Given the description of an element on the screen output the (x, y) to click on. 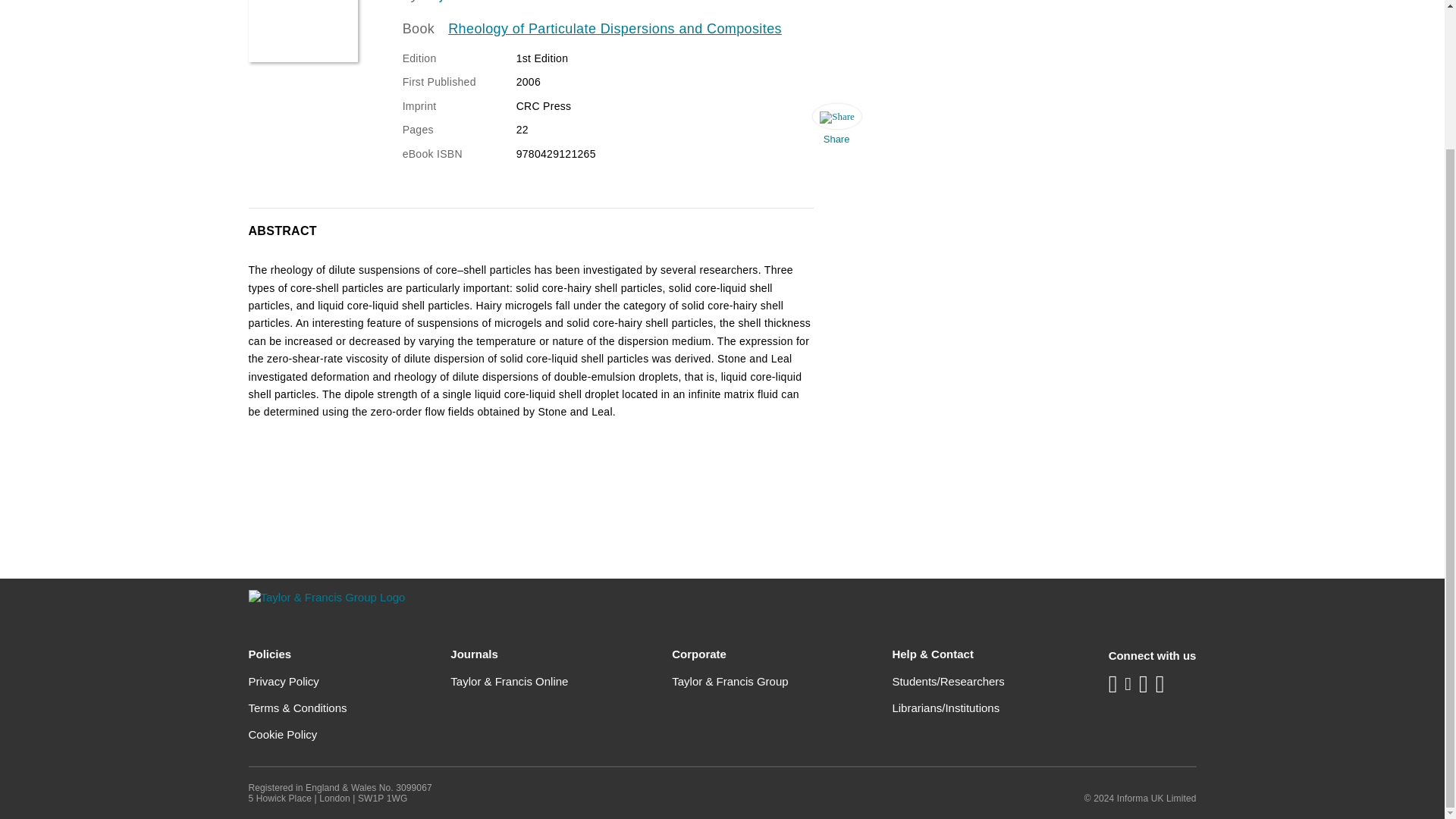
Rheology of Particulate Dispersions and Composites (614, 29)
Rajinder Pal (461, 1)
Share (836, 127)
Cookie Policy (282, 734)
Privacy Policy (283, 681)
